Given the description of an element on the screen output the (x, y) to click on. 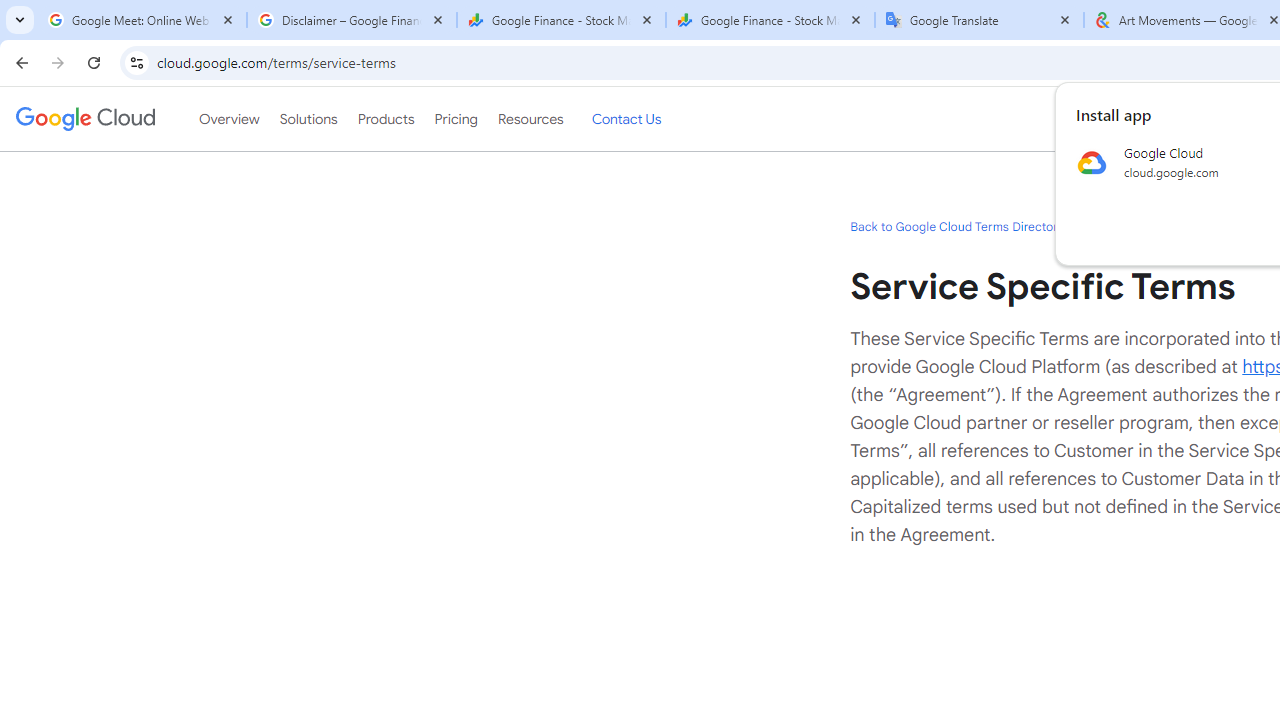
Contact Us (626, 119)
Products (385, 119)
Overview (228, 119)
Google Cloud (84, 118)
